Given the description of an element on the screen output the (x, y) to click on. 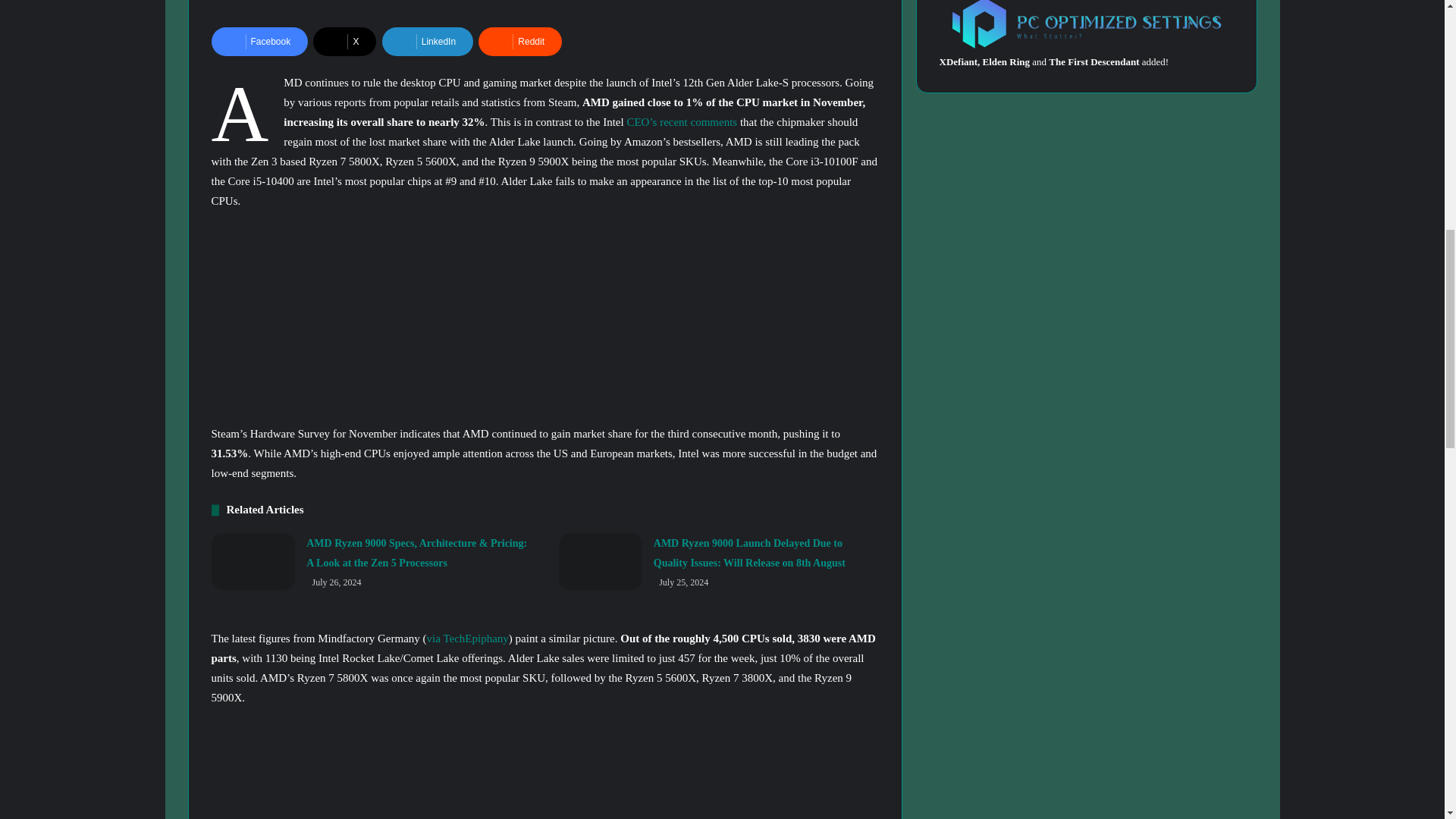
Reddit (520, 41)
Facebook (259, 41)
X (344, 41)
Reddit (520, 41)
via TechEpiphany (467, 638)
LinkedIn (427, 41)
X (344, 41)
Facebook (259, 41)
LinkedIn (427, 41)
